Given the description of an element on the screen output the (x, y) to click on. 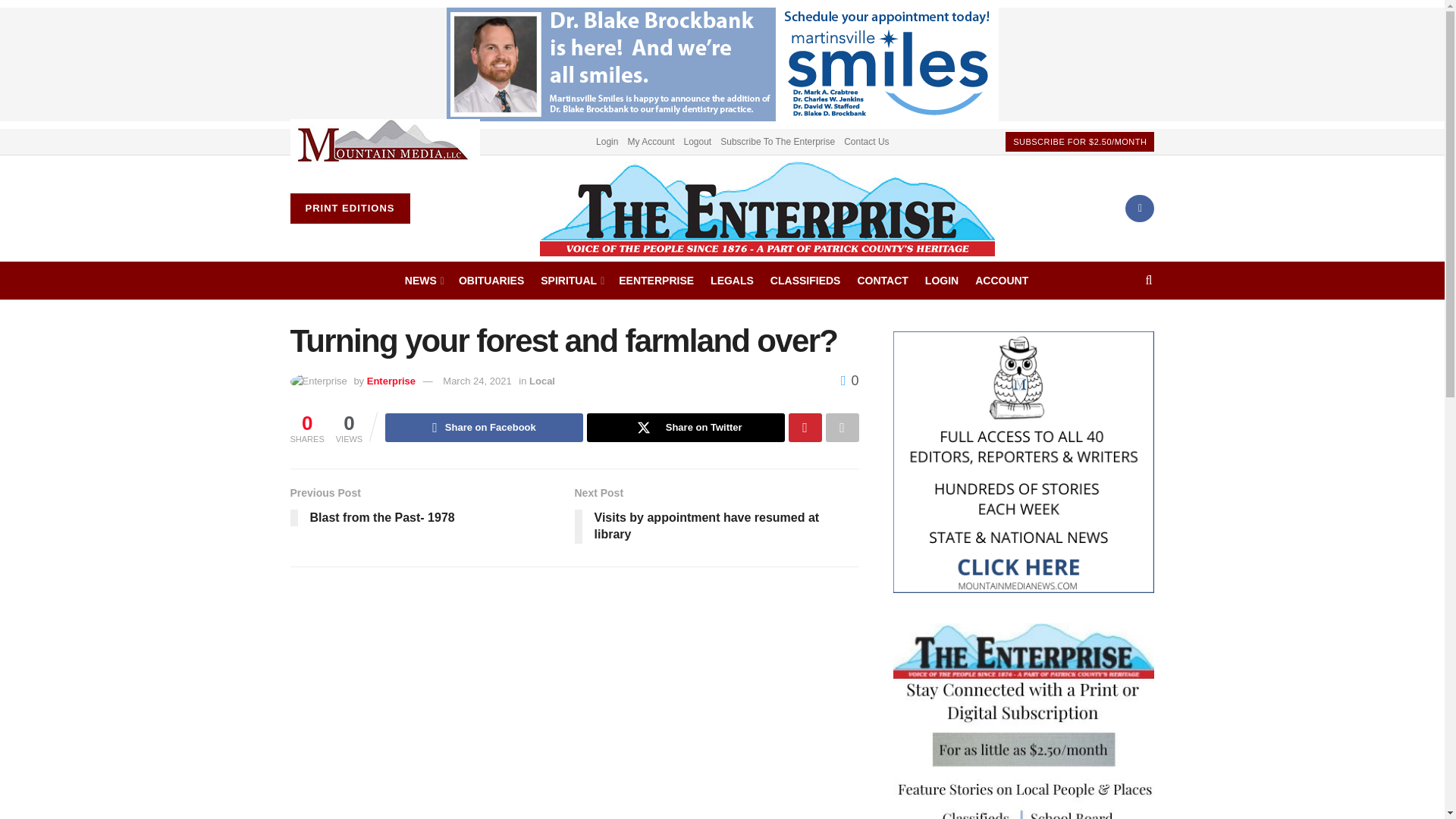
CLASSIFIEDS (805, 280)
LOGIN (941, 280)
ACCOUNT (1001, 280)
OBITUARIES (491, 280)
My Account (650, 141)
CONTACT (882, 280)
Contact Us (866, 141)
PRINT EDITIONS (349, 208)
SPIRITUAL (571, 280)
EENTERPRISE (656, 280)
LEGALS (732, 280)
NEWS (423, 280)
Logout (697, 141)
Subscribe To The Enterprise (777, 141)
